Given the description of an element on the screen output the (x, y) to click on. 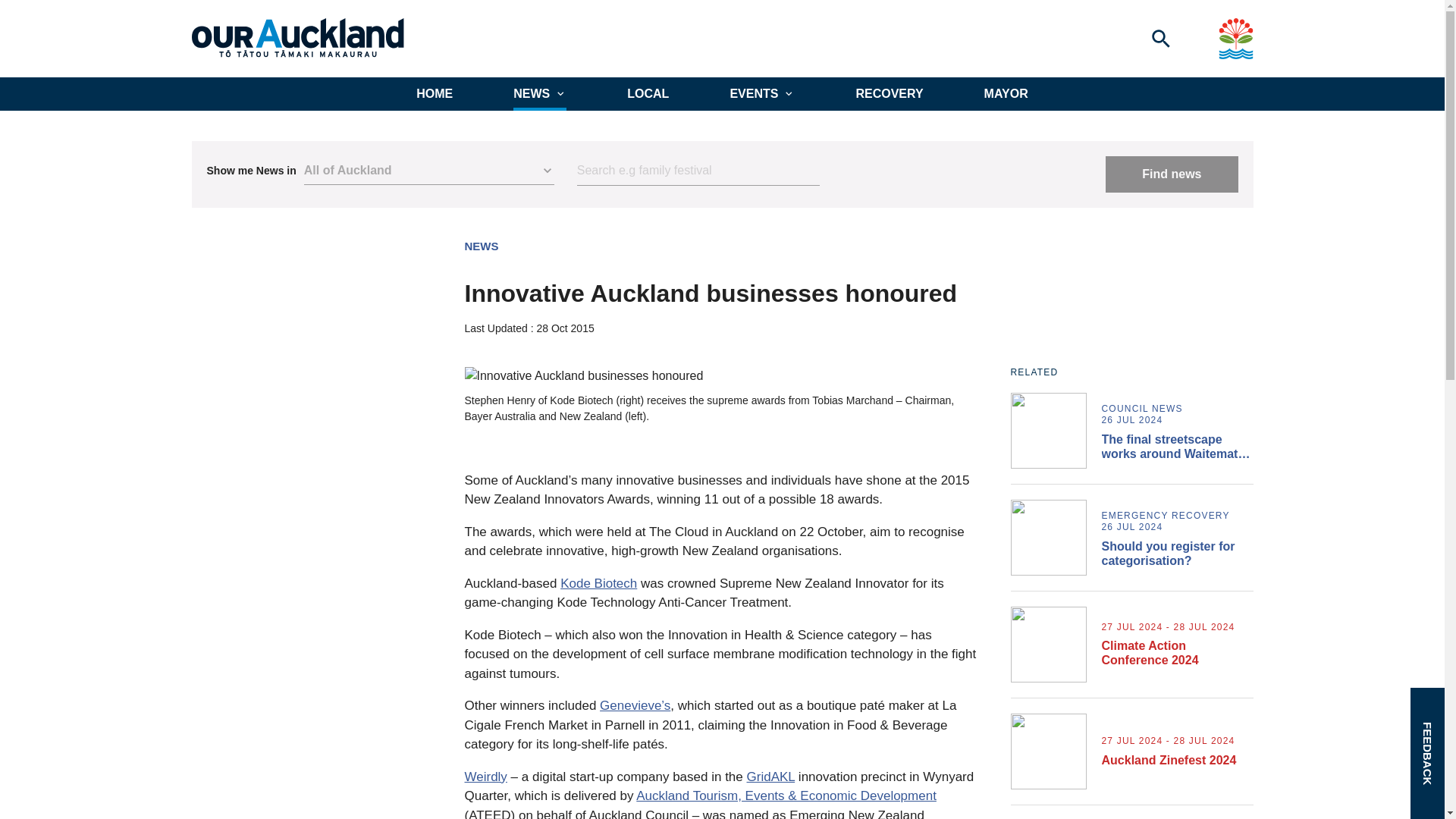
Search (697, 170)
Find news (1171, 174)
Kode Biotech (598, 583)
RECOVERY (889, 93)
Weirdly (485, 776)
MAYOR (1005, 93)
NEWS (539, 93)
Toggle search (1160, 38)
GridAKL (770, 776)
NEWS (480, 245)
HOME (434, 93)
EVENTS (761, 93)
LOCAL (647, 93)
